Given the description of an element on the screen output the (x, y) to click on. 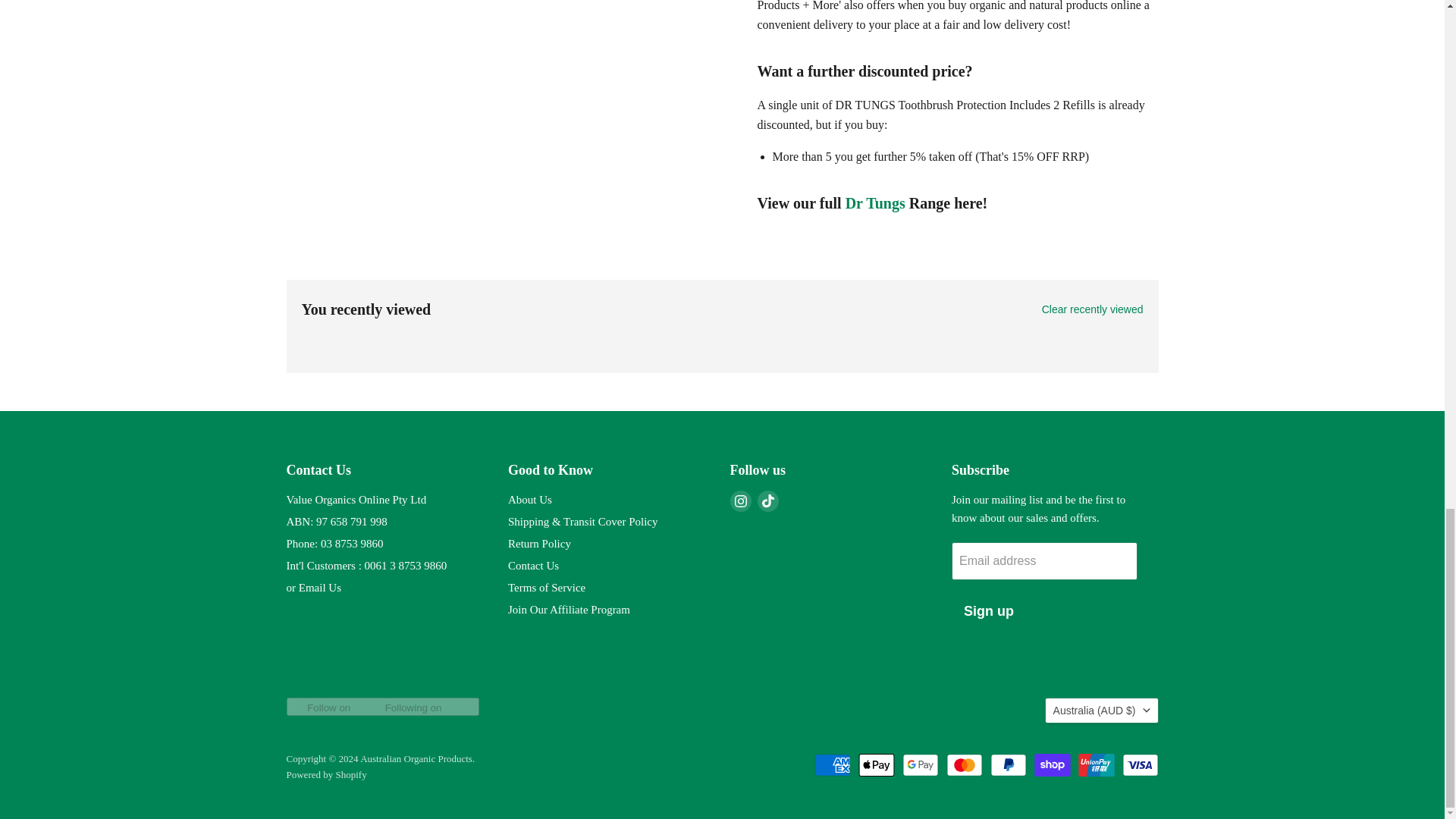
American Express (831, 764)
Apple Pay (877, 764)
TikTok (767, 500)
Google Pay (920, 764)
Instagram (740, 500)
Mastercard (964, 764)
